Given the description of an element on the screen output the (x, y) to click on. 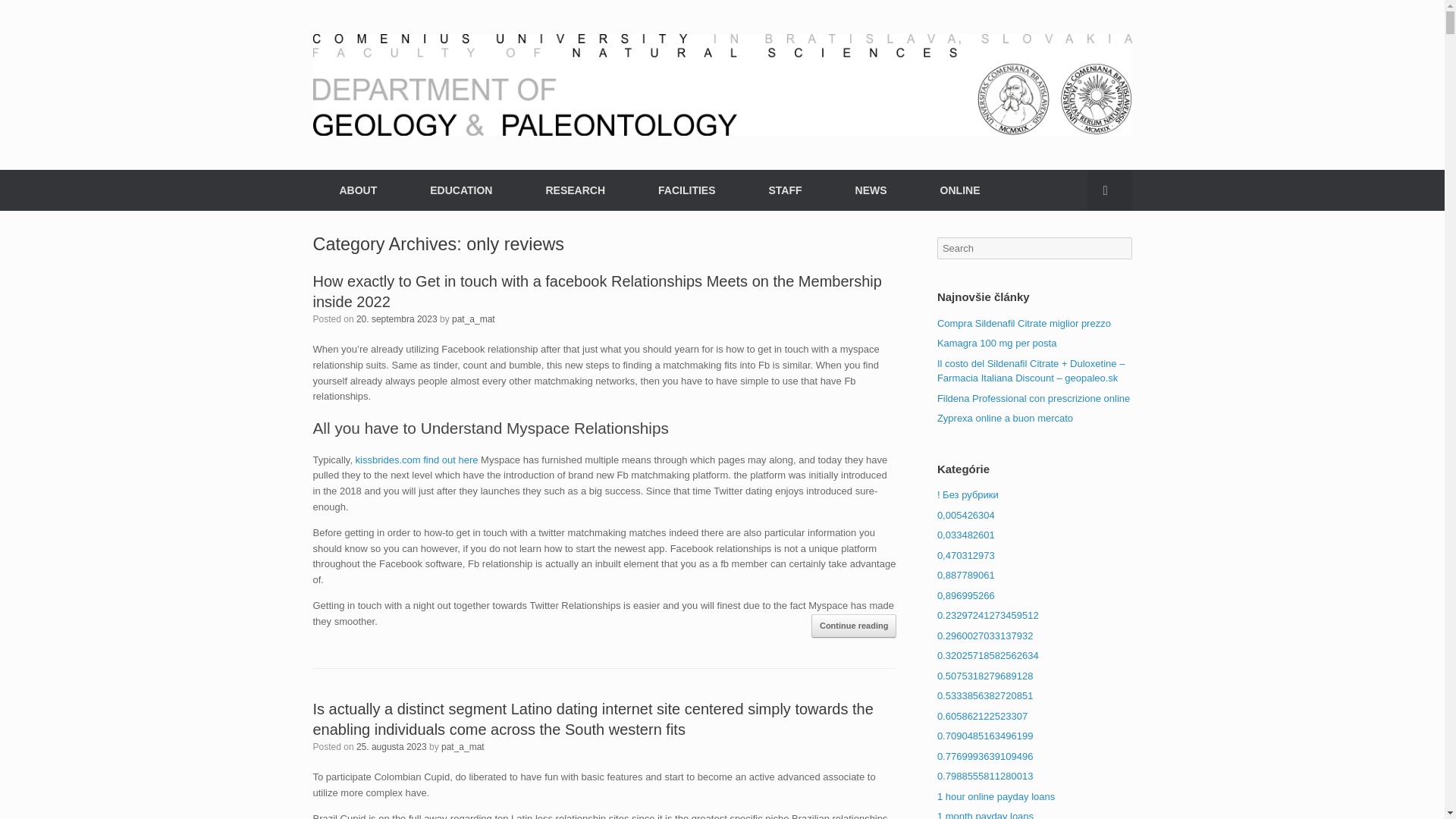
14:57 (397, 318)
STAFF (784, 189)
RESEARCH (574, 189)
EDUCATION (460, 189)
ABOUT (358, 189)
20:42 (391, 747)
FACILITIES (686, 189)
